Given the description of an element on the screen output the (x, y) to click on. 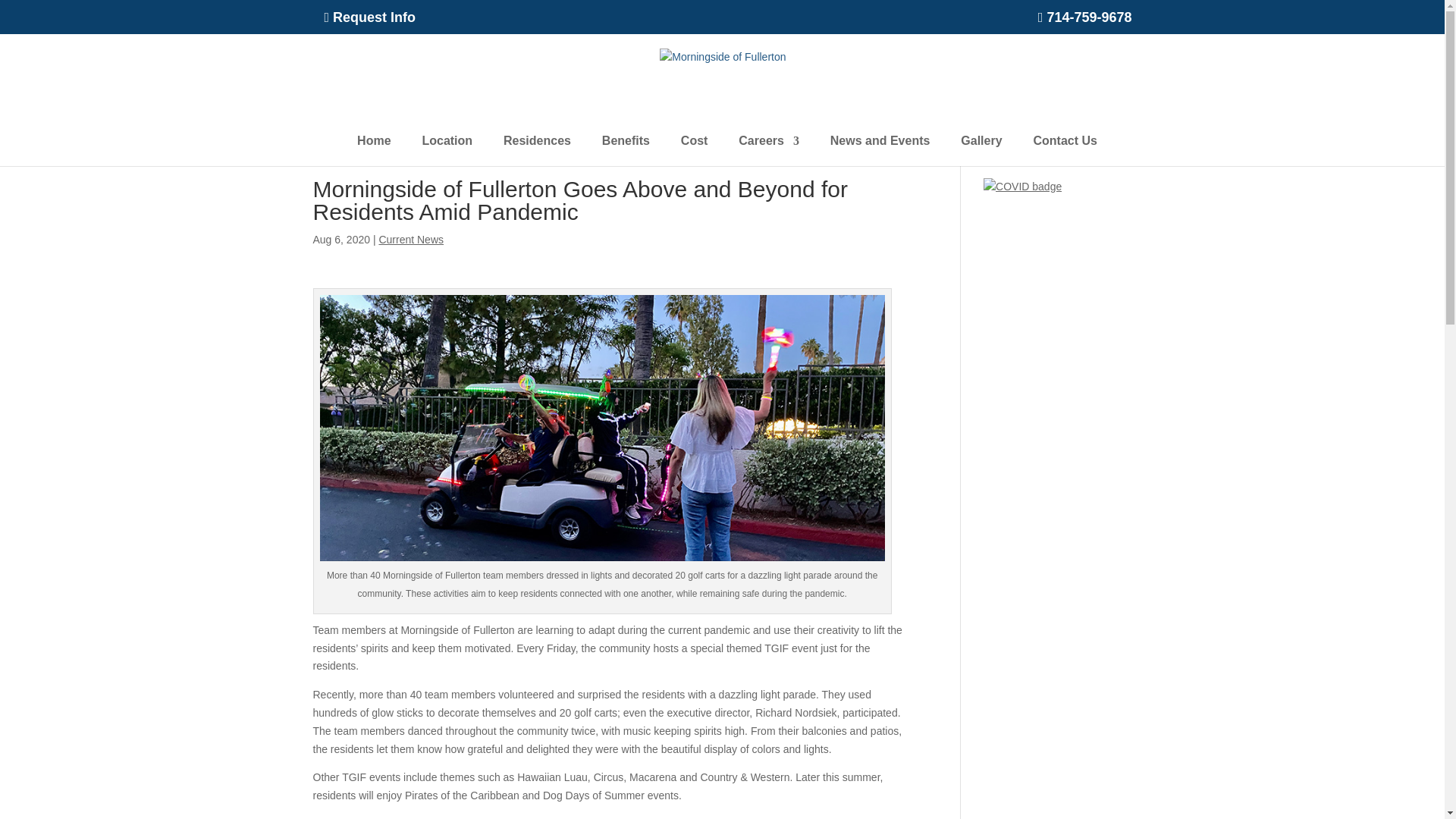
Home (373, 150)
Cost (694, 150)
News and Events (879, 150)
Current News (411, 239)
Residences (536, 150)
714-759-9678 (1085, 22)
Location (446, 150)
Gallery (980, 150)
Careers (768, 150)
Contact Us (1064, 150)
Benefits (625, 150)
Request Info (370, 22)
